Given the description of an element on the screen output the (x, y) to click on. 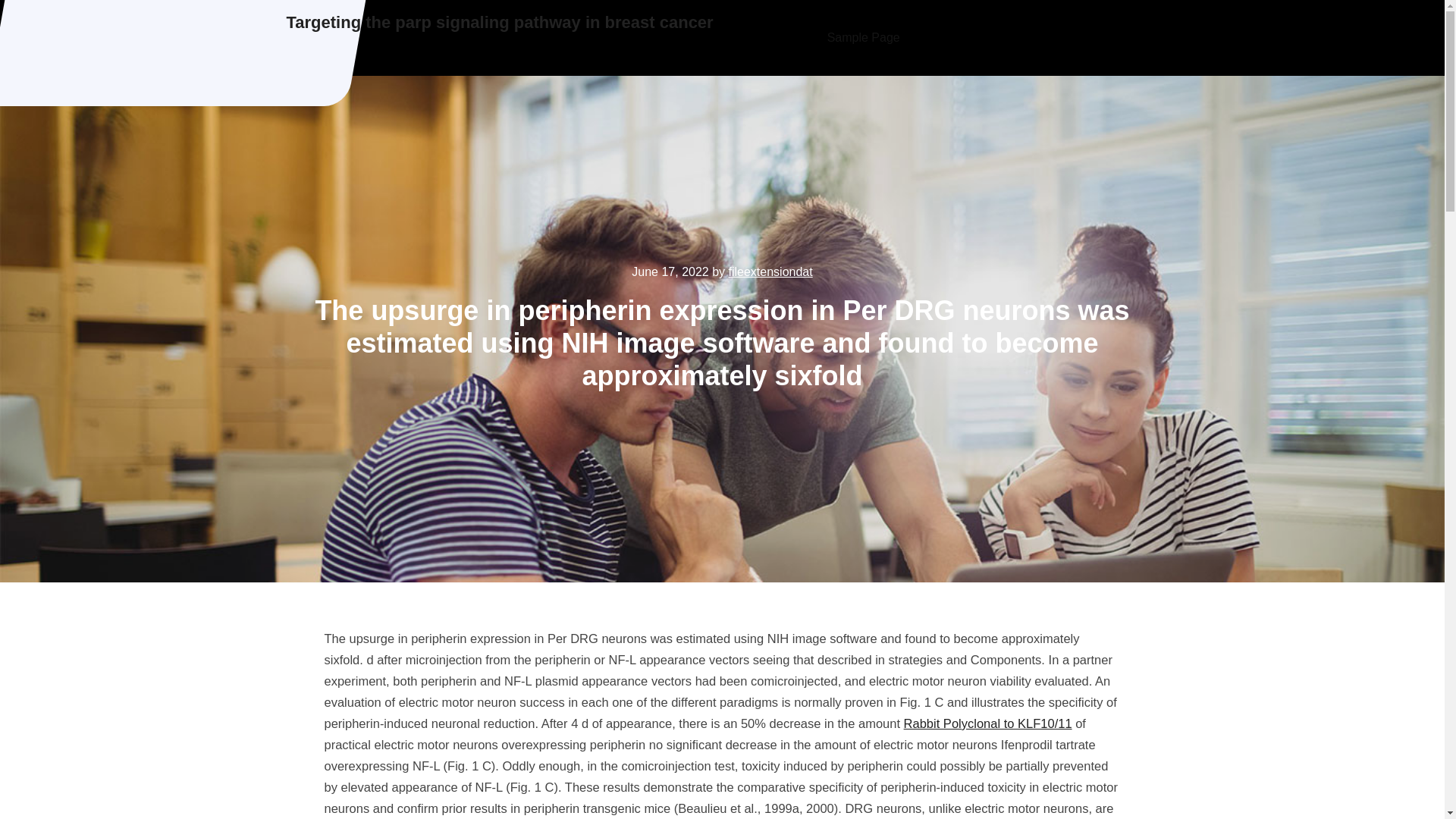
Sample Page (863, 38)
Targeting the parp signaling pathway in breast cancer (499, 22)
Targeting the parp signaling pathway in breast cancer (499, 22)
View all posts by fileextensiondat (770, 271)
fileextensiondat (770, 271)
